Given the description of an element on the screen output the (x, y) to click on. 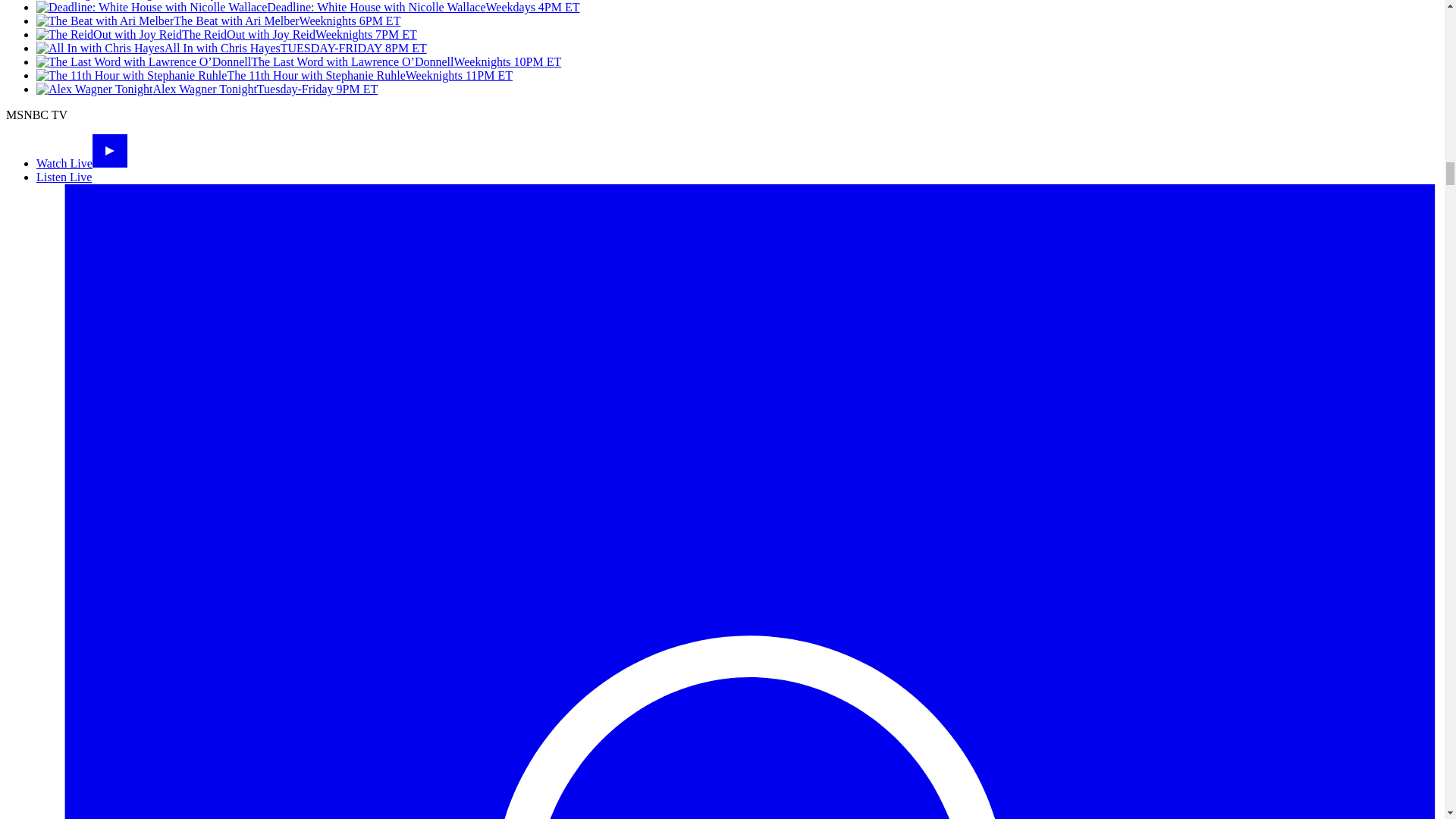
Alex Wagner TonightTuesday-Friday 9PM ET (206, 88)
Watch Live (82, 163)
The ReidOut with Joy ReidWeeknights 7PM ET (226, 33)
The Beat with Ari MelberWeeknights 6PM ET (218, 20)
The 11th Hour with Stephanie RuhleWeeknights 11PM ET (274, 74)
All In with Chris HayesTUESDAY-FRIDAY 8PM ET (231, 47)
Deadline: White House with Nicolle WallaceWeekdays 4PM ET (307, 6)
